Given the description of an element on the screen output the (x, y) to click on. 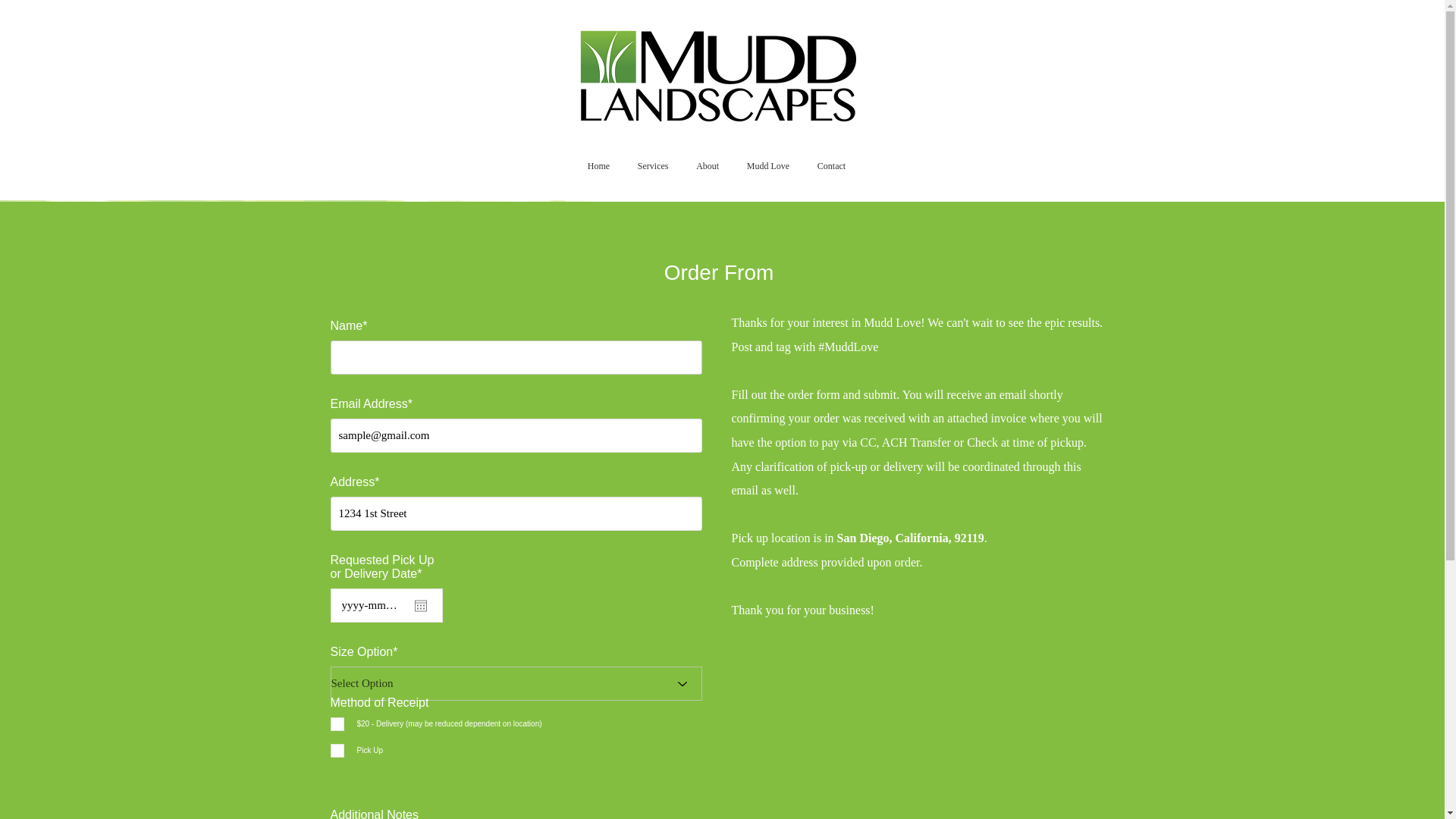
Home (598, 165)
Services (652, 165)
Mudd Love (767, 165)
Contact (831, 165)
About (707, 165)
